Given the description of an element on the screen output the (x, y) to click on. 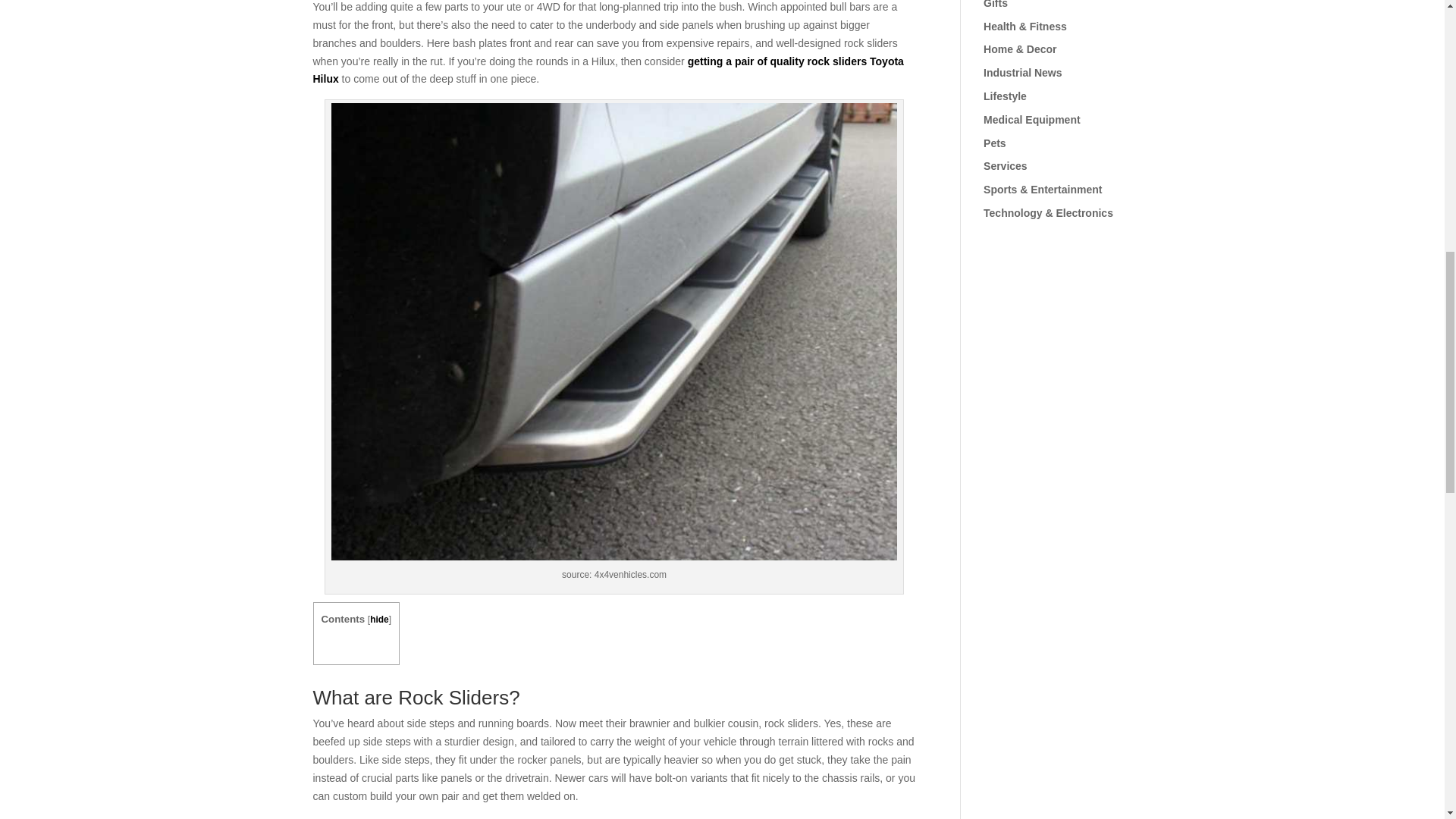
hide (378, 619)
getting a pair of quality rock sliders Toyota Hilux (607, 70)
